Given the description of an element on the screen output the (x, y) to click on. 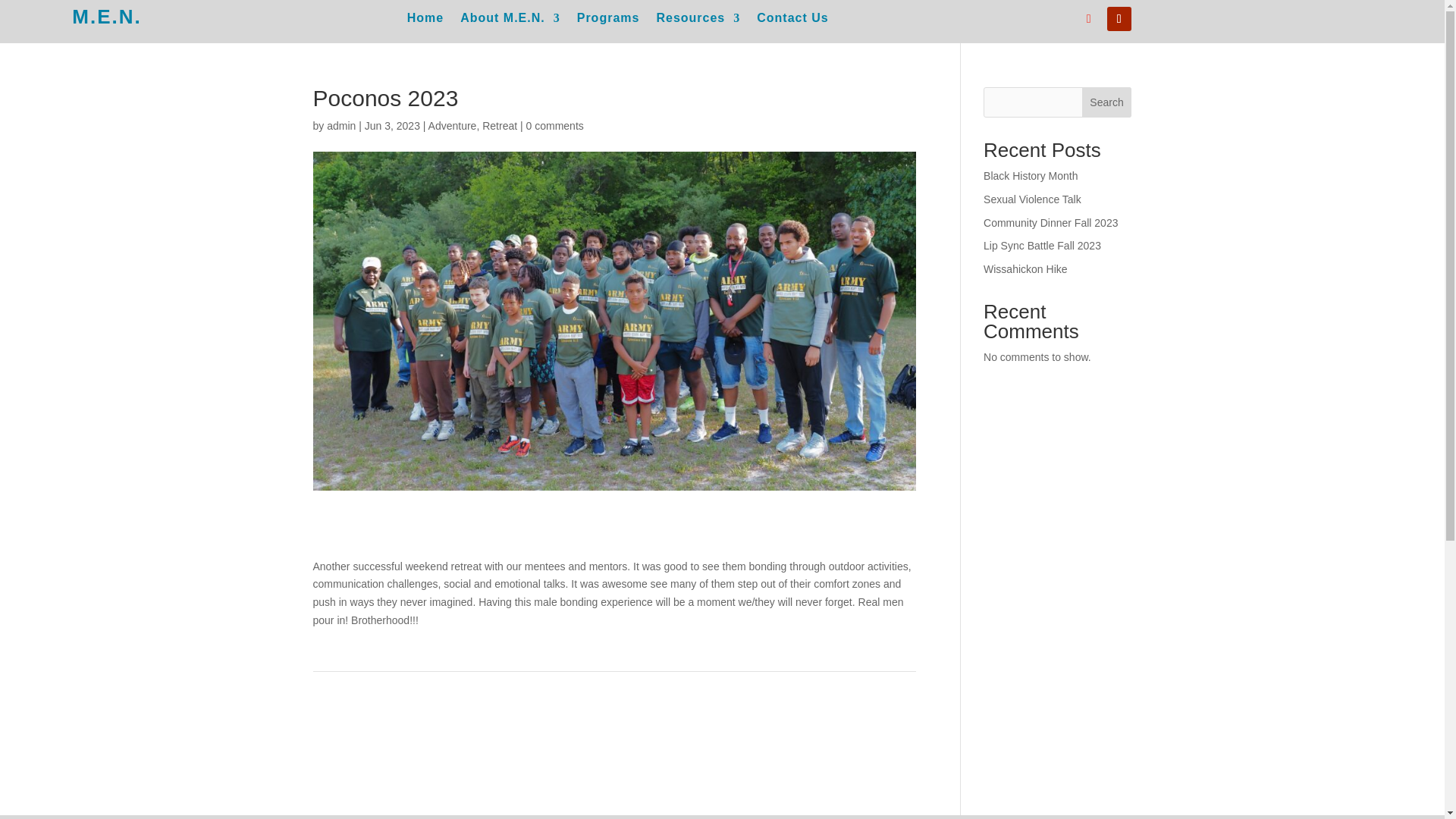
Adventure (452, 125)
Resources (697, 21)
Follow on Youtube (1118, 18)
Home (425, 21)
Programs (608, 21)
Posts by admin (340, 125)
Follow on Facebook (1088, 18)
About M.E.N. (510, 21)
admin (340, 125)
Contact Us (792, 21)
